Given the description of an element on the screen output the (x, y) to click on. 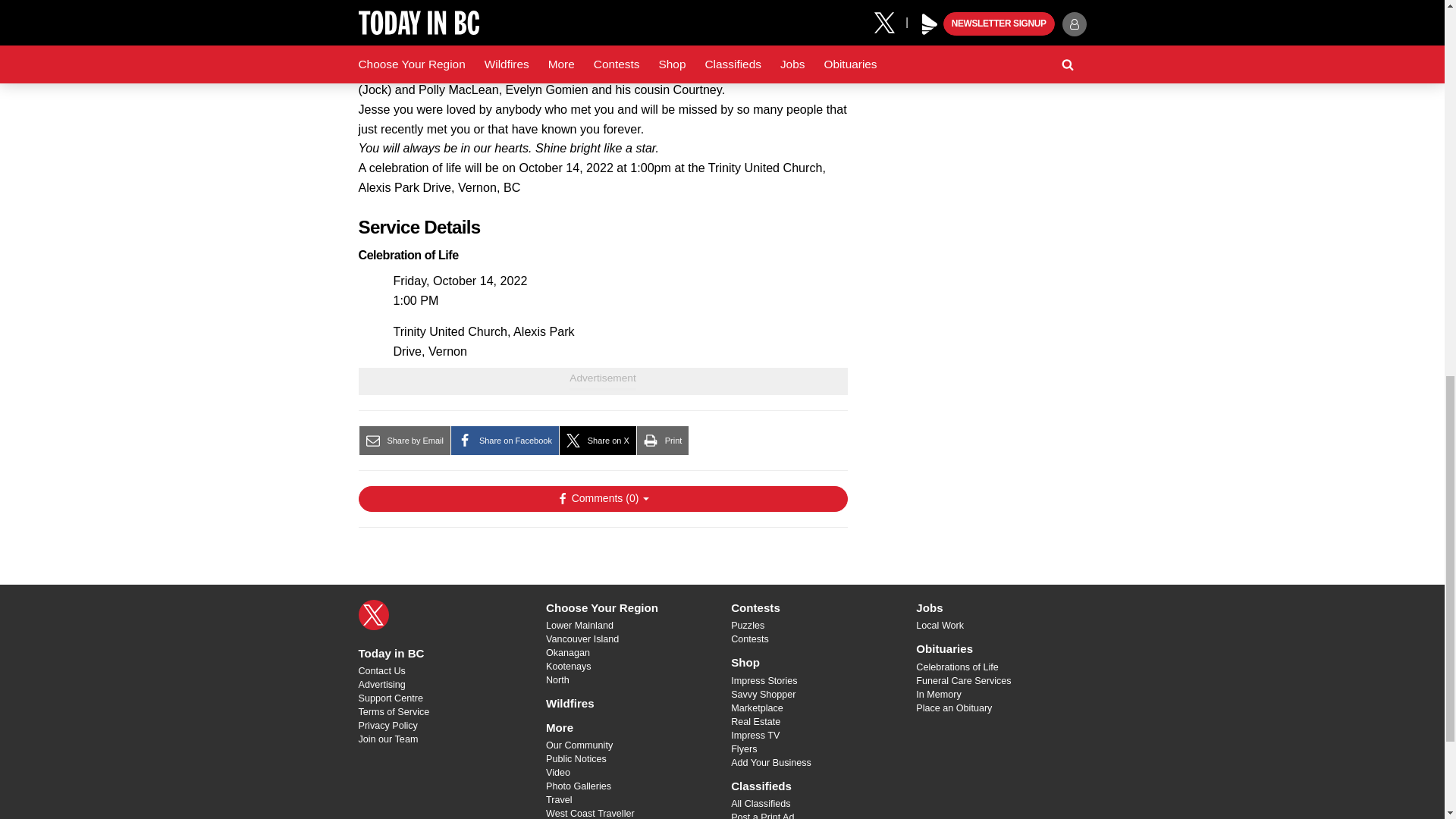
X (373, 614)
Show Comments (602, 498)
